Given the description of an element on the screen output the (x, y) to click on. 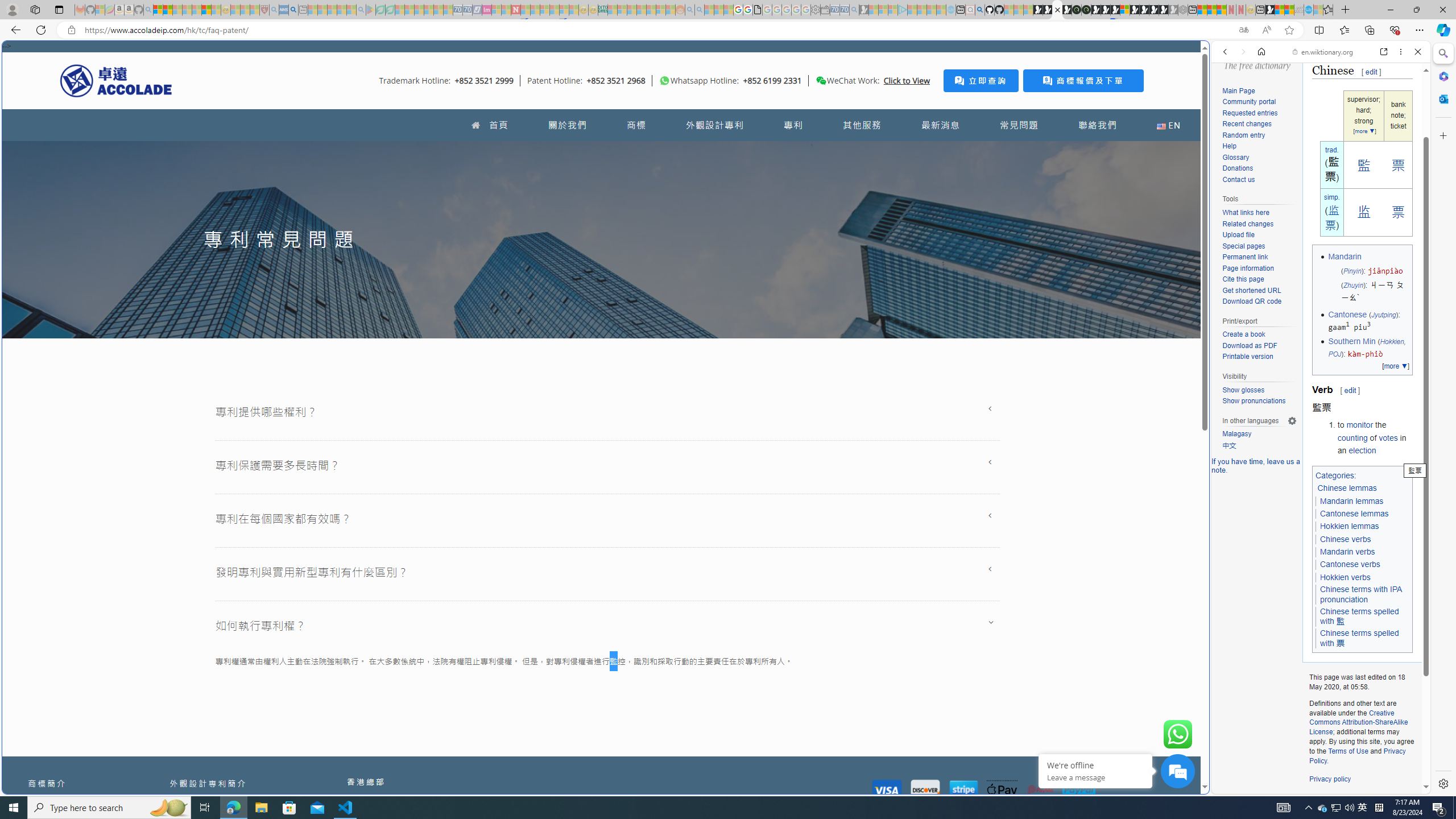
Cantonese verbs (1350, 564)
Contact us (1259, 179)
Hokkien verbs (1345, 576)
Cantonese lemmas (1354, 513)
Show pronunciations (1253, 401)
